Given the description of an element on the screen output the (x, y) to click on. 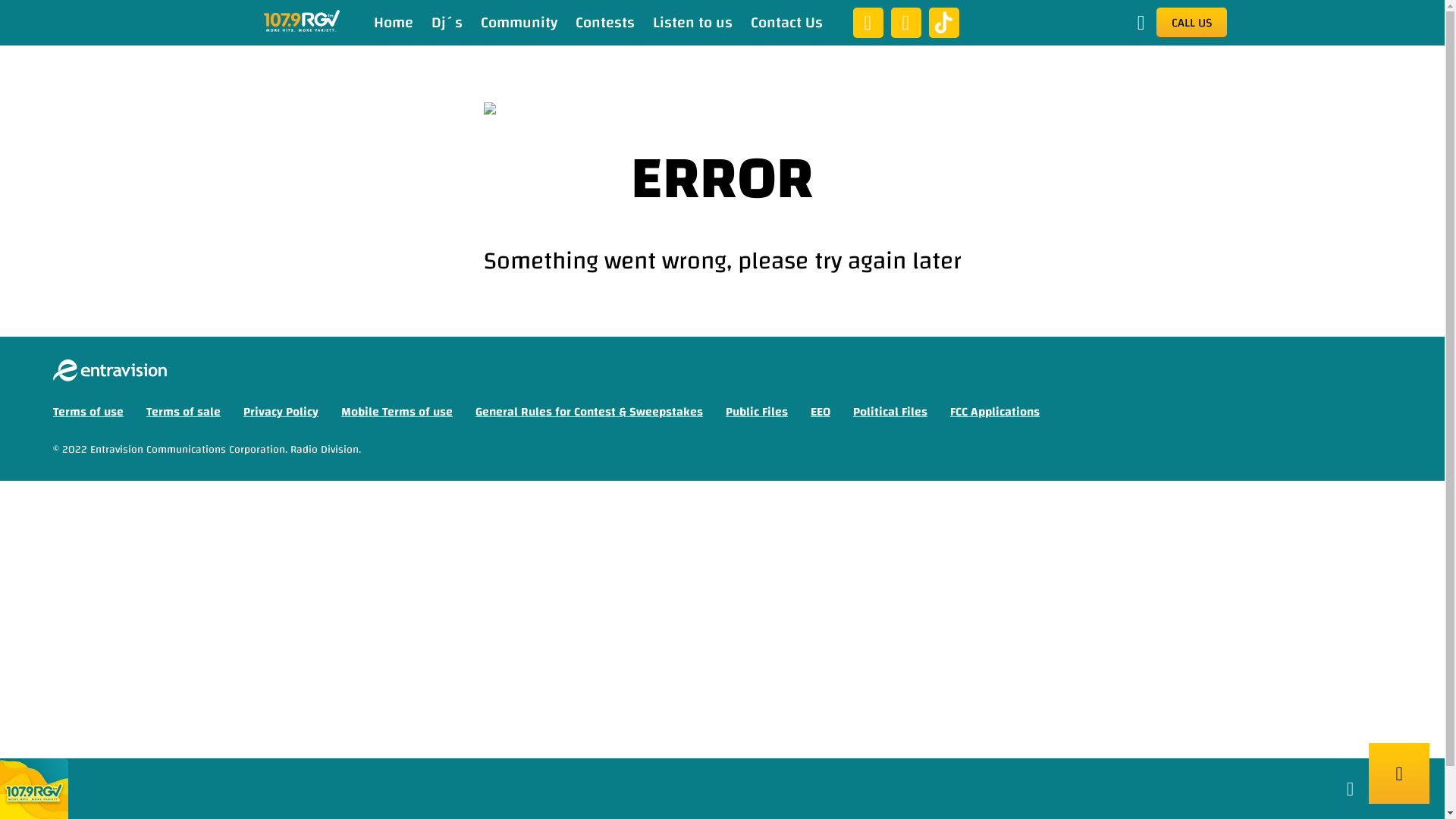
Community Element type: text (518, 22)
Terms of use Element type: text (88, 411)
Home Element type: text (392, 22)
Follow us on Facebook Element type: hover (867, 22)
EEO Element type: text (820, 411)
Contact Us Element type: text (786, 22)
Terms of sale Element type: text (183, 411)
Mobile Terms of use Element type: text (396, 411)
Follow us on Instagram Element type: hover (905, 22)
tiktok
107.9rgvfm Element type: text (943, 18)
FCC Applications Element type: text (994, 411)
Privacy Policy Element type: text (280, 411)
Contests Element type: text (603, 22)
CALL US Element type: text (1190, 22)
General Rules for Contest & Sweepstakes Element type: text (588, 411)
Public Files Element type: text (756, 411)
Listen to us Element type: text (691, 22)
Political Files Element type: text (890, 411)
